Given the description of an element on the screen output the (x, y) to click on. 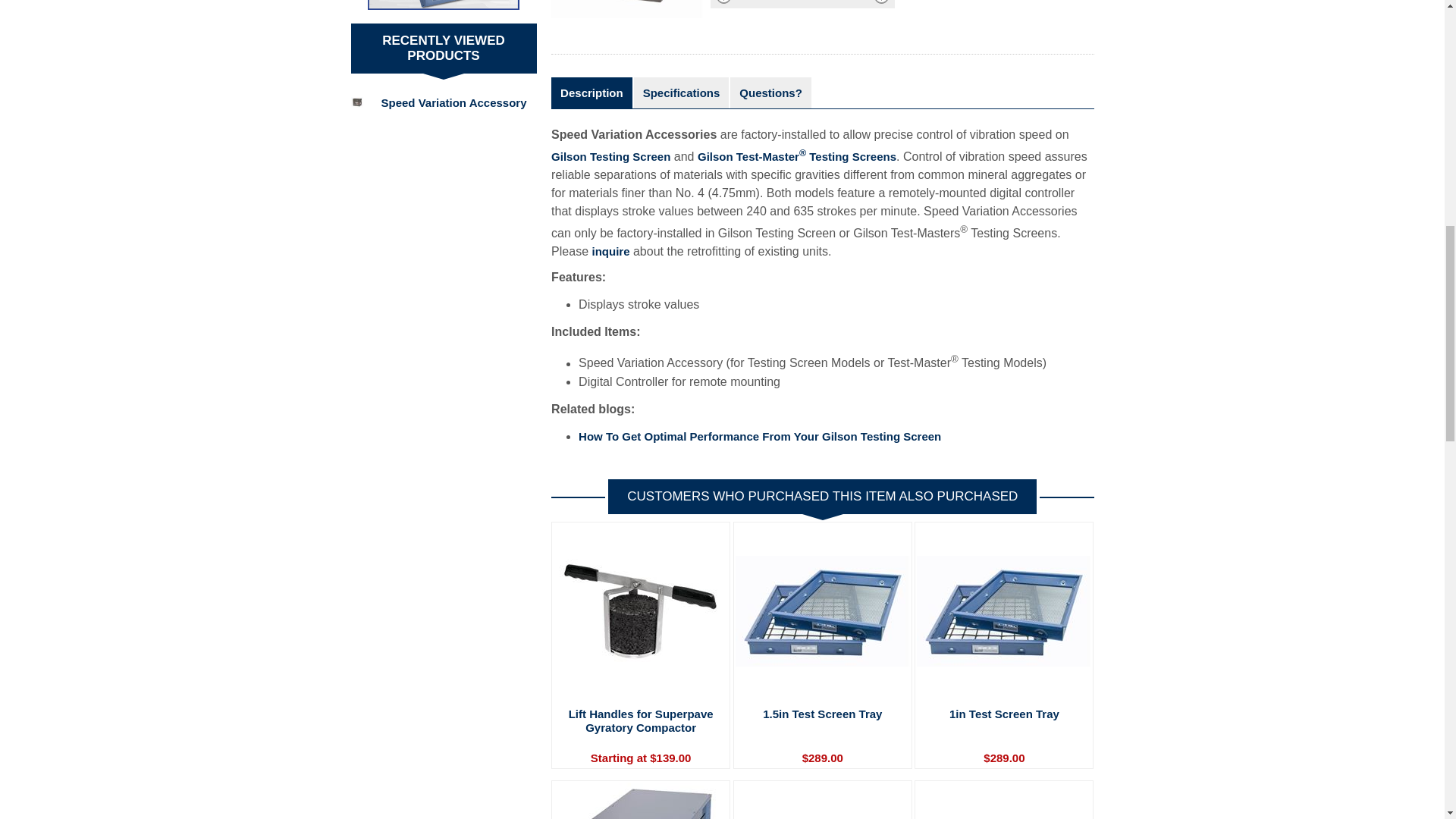
Add to favorites (802, 4)
